Given the description of an element on the screen output the (x, y) to click on. 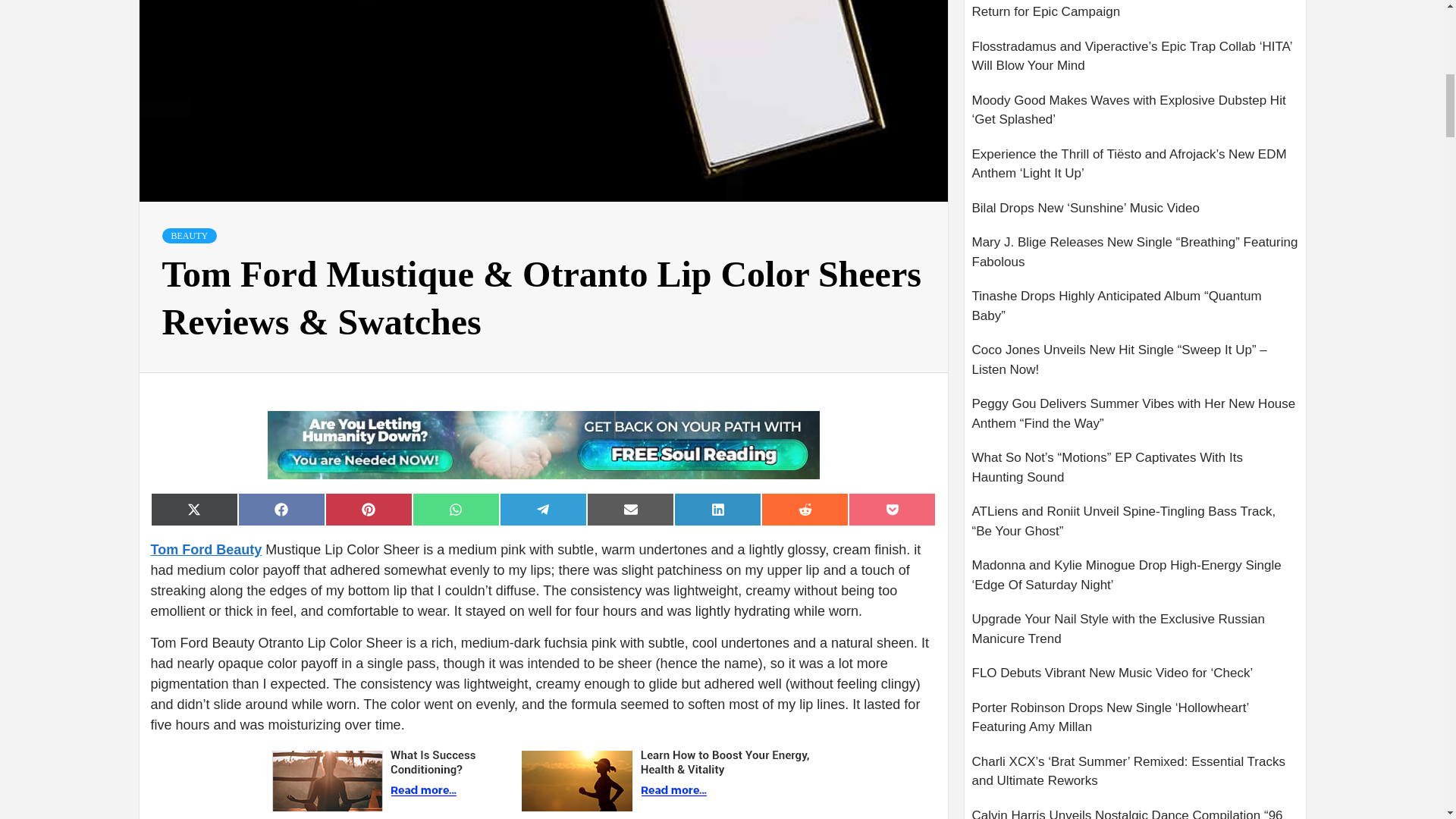
Share on Email (630, 509)
Share on WhatsApp (455, 509)
BEAUTY (188, 235)
Tom Ford Beauty (205, 549)
Share on Telegram (542, 509)
Share on LinkedIn (717, 509)
Share on Pocket (892, 509)
Share on Pinterest (368, 509)
Share on Reddit (804, 509)
Share on Facebook (281, 509)
